Given the description of an element on the screen output the (x, y) to click on. 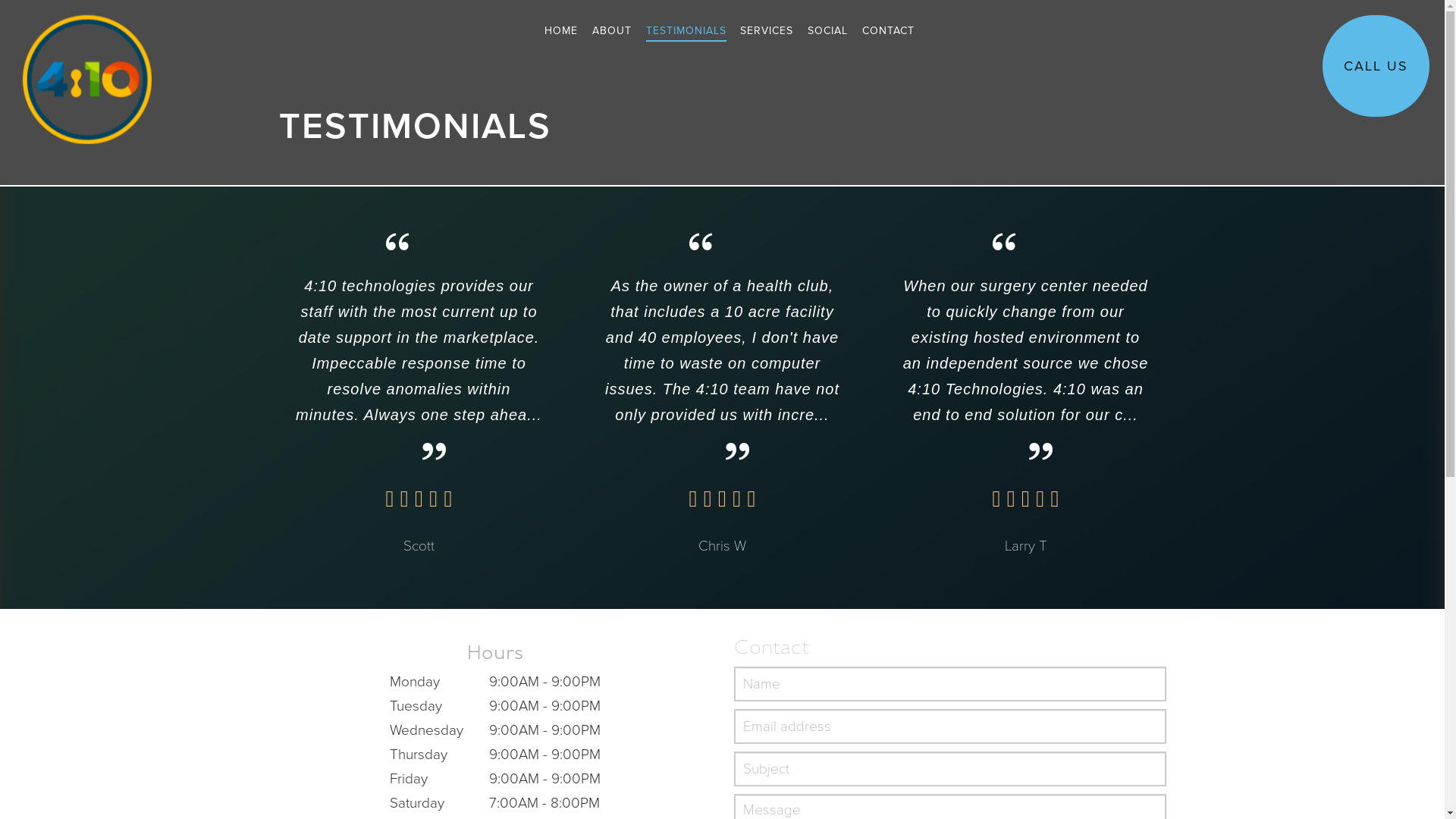
SERVICES Element type: text (766, 32)
Website Home Page Element type: hover (75, 72)
TESTIMONIALS Element type: text (686, 33)
CALL US Element type: text (1375, 65)
SOCIAL Element type: text (827, 32)
ABOUT Element type: text (611, 32)
HOME Element type: text (560, 32)
CONTACT Element type: text (888, 32)
